Given the description of an element on the screen output the (x, y) to click on. 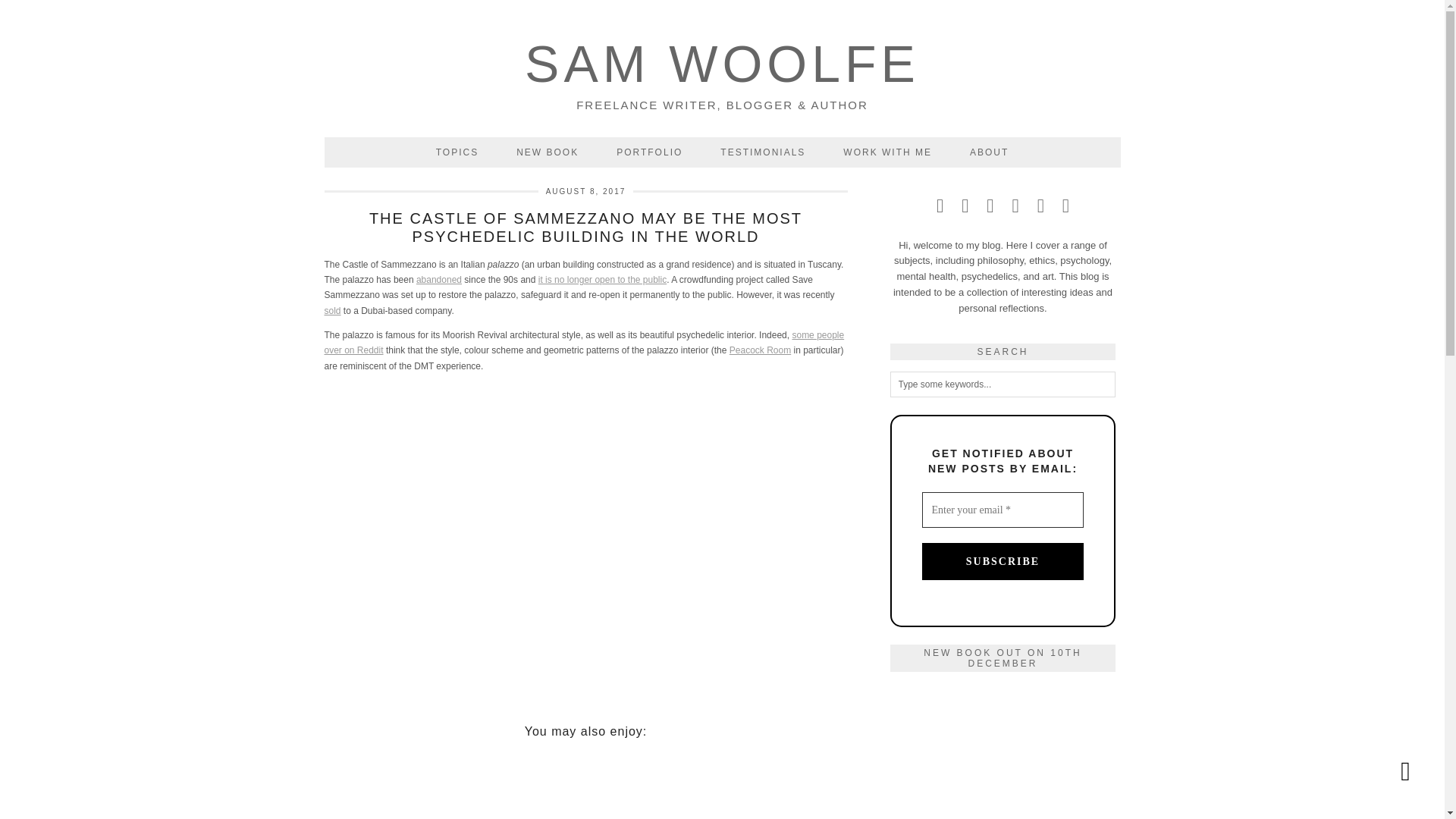
Peacock Room (759, 349)
it is no longer open to the public (602, 279)
some people over on Reddit (584, 342)
SAM WOOLFE (722, 63)
TOPICS (456, 151)
TESTIMONIALS (762, 151)
PORTFOLIO (648, 151)
sold (332, 310)
